Given the description of an element on the screen output the (x, y) to click on. 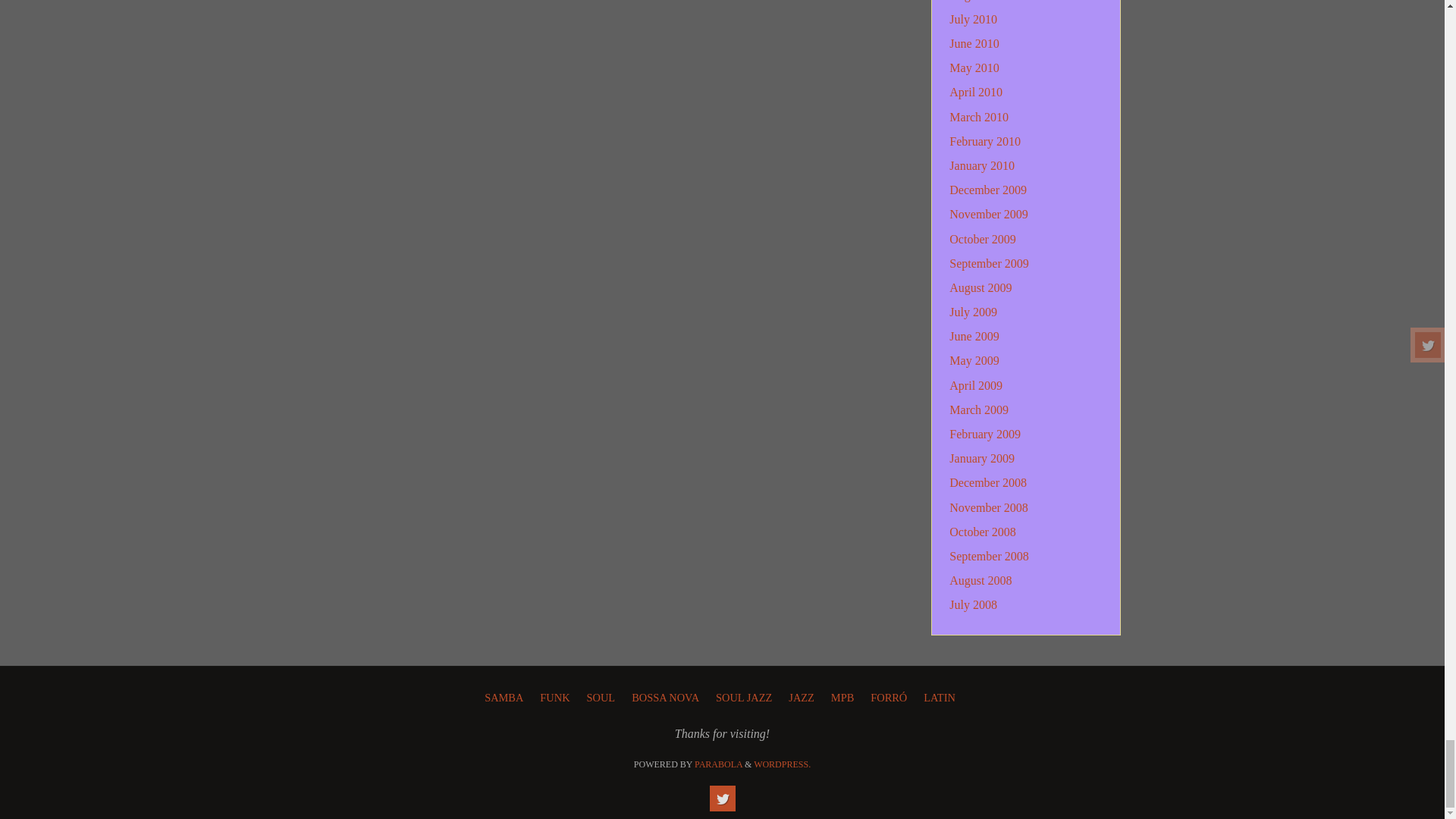
Semantic Personal Publishing Platform (782, 764)
Twitter (722, 798)
Parabola Theme by Cryout Creations (718, 764)
